Given the description of an element on the screen output the (x, y) to click on. 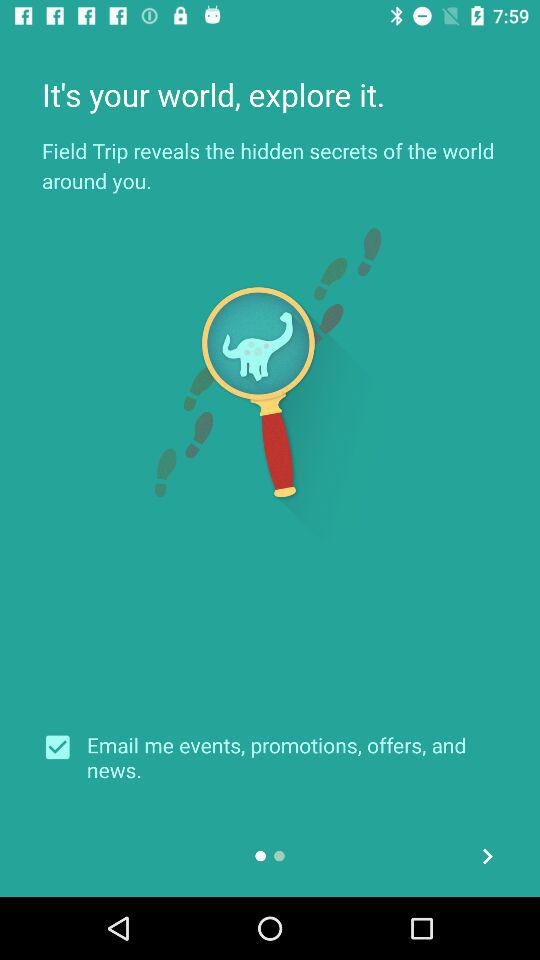
open the item below email me events icon (487, 856)
